Given the description of an element on the screen output the (x, y) to click on. 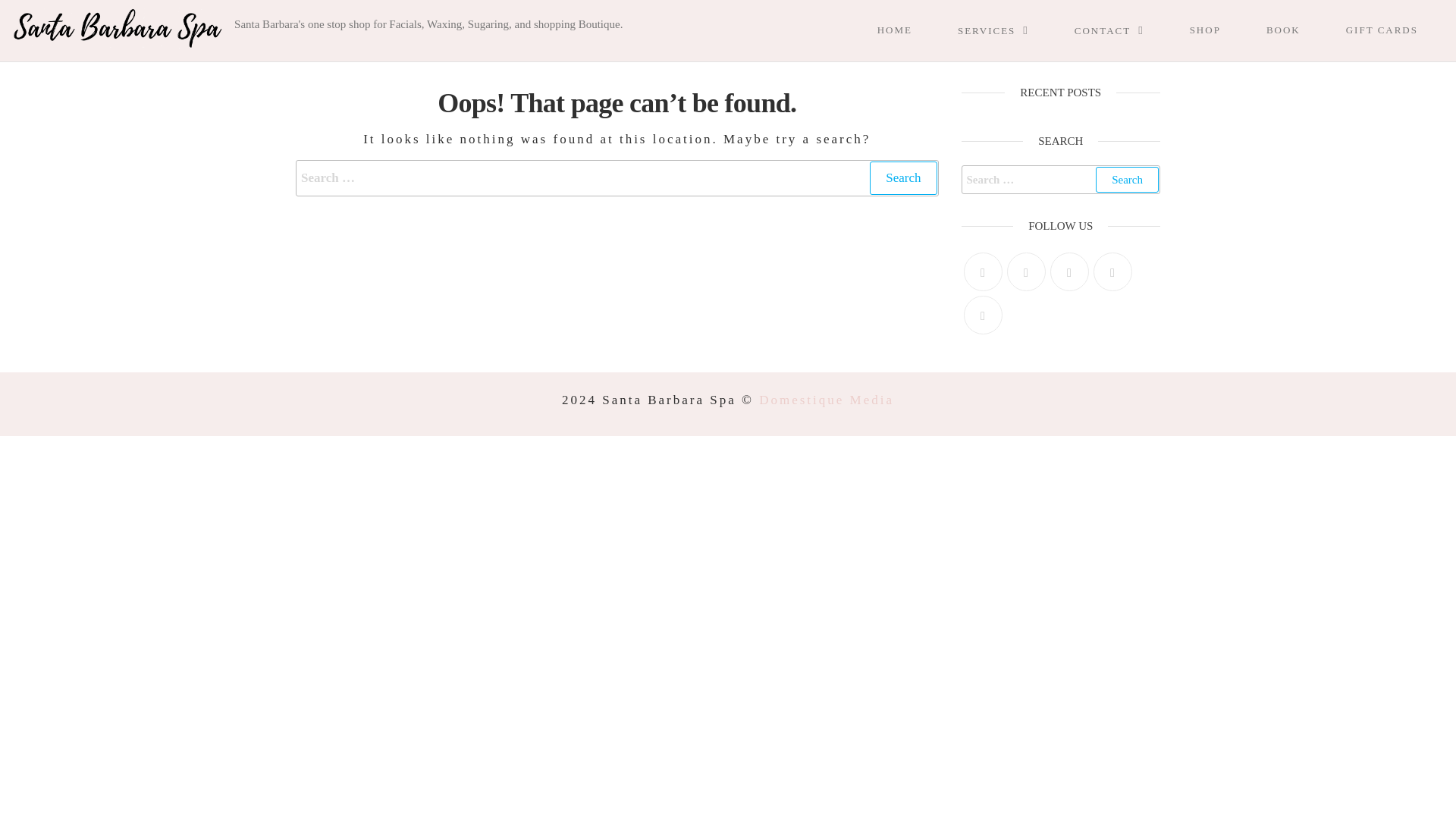
Domestique Media (825, 400)
Services (1008, 30)
Shop (1220, 30)
CONTACT (1124, 30)
SHOP (1220, 30)
Search (902, 177)
BOOK (1298, 30)
Search (902, 177)
Twitter (981, 271)
SERVICES (1008, 30)
